Given the description of an element on the screen output the (x, y) to click on. 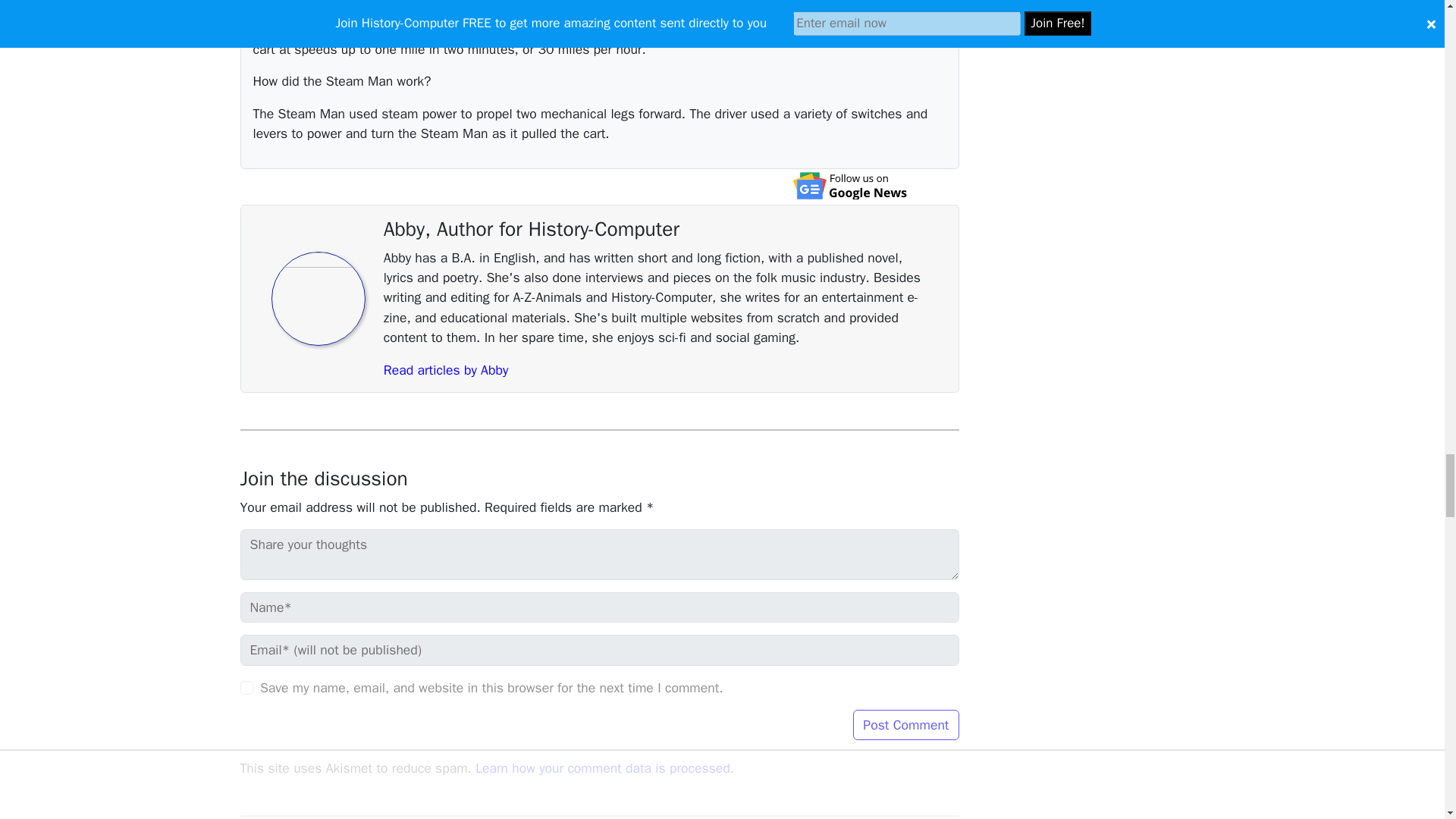
Read articles by Abby (446, 369)
Post Comment (905, 725)
Learn how your comment data is processed (603, 768)
yes (246, 687)
Post Comment (905, 725)
